Given the description of an element on the screen output the (x, y) to click on. 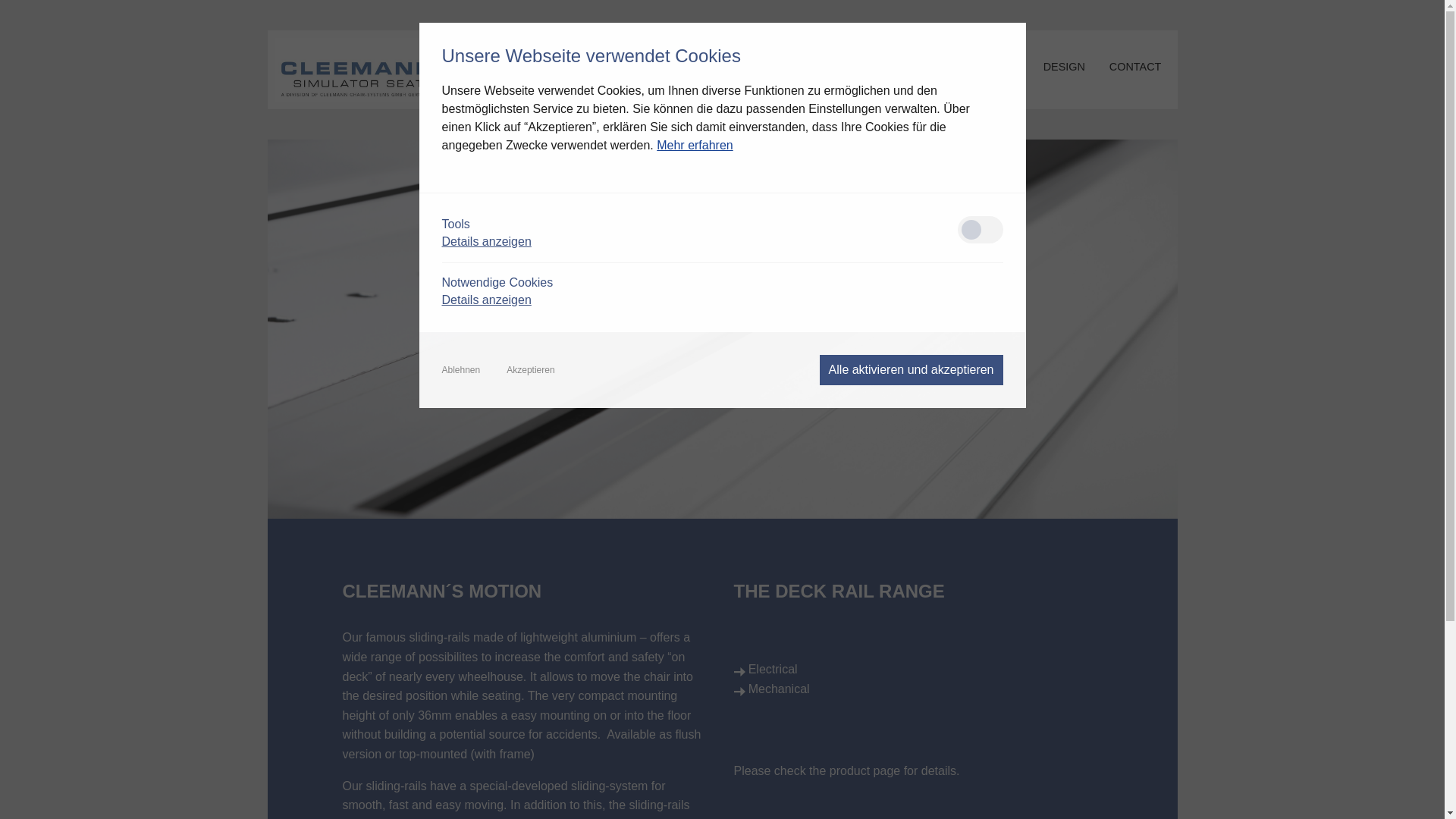
S.I.M. SEATS (743, 67)
Alle aktivieren und akzeptieren (911, 369)
Mehr erfahren (694, 144)
Ablehnen (460, 369)
Akzeptieren (530, 369)
ABOUT US (657, 67)
Electrical (772, 668)
RAILS (816, 67)
DESIGN (1076, 67)
Mechanical (778, 688)
APPLICATION (995, 67)
Details anzeigen (486, 299)
Details anzeigen (486, 241)
CONTACT (1139, 67)
ACCESSORIES (895, 67)
